Given the description of an element on the screen output the (x, y) to click on. 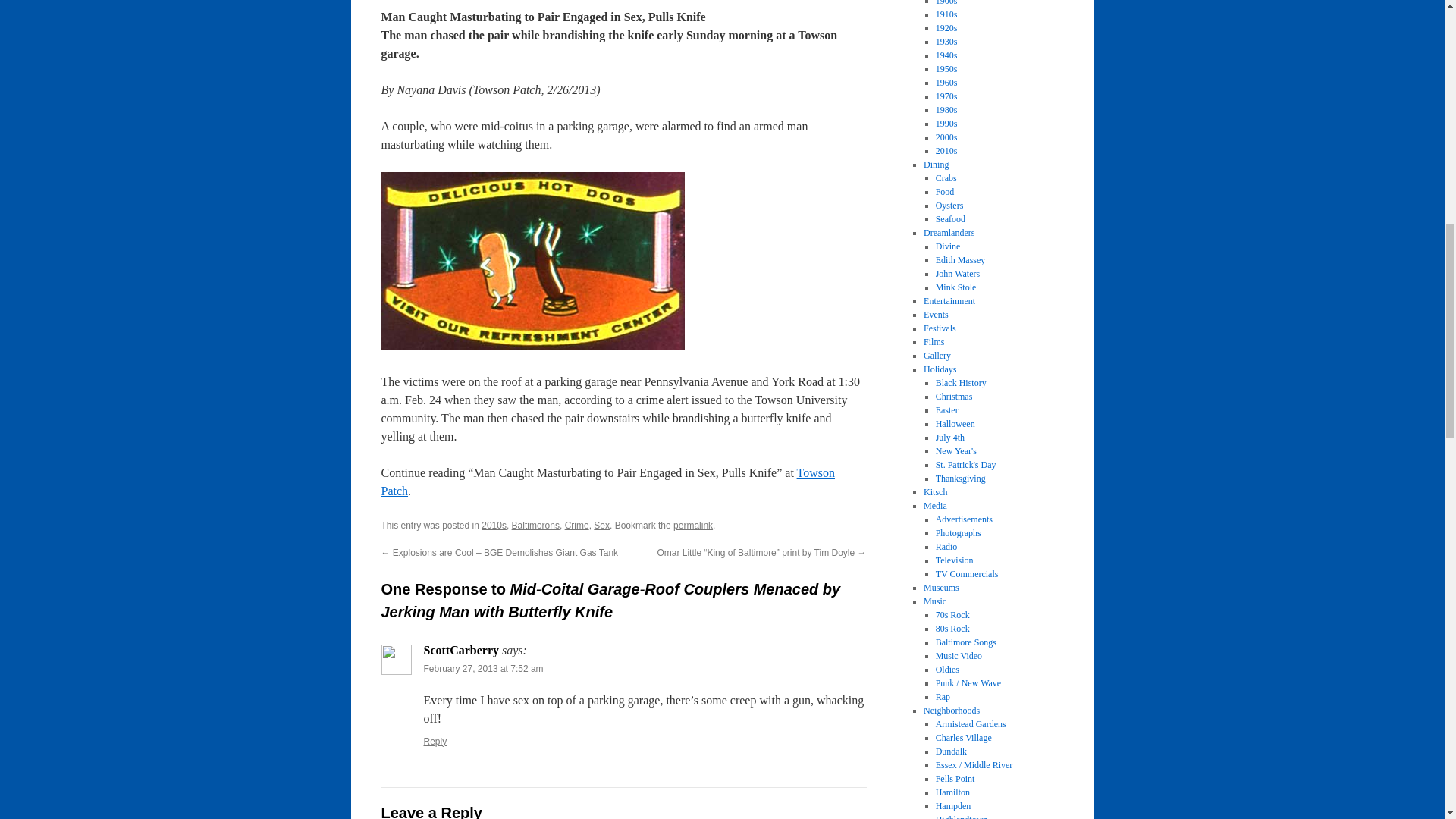
Sex (602, 525)
2010s (493, 525)
February 27, 2013 at 7:52 am (483, 668)
Crime (576, 525)
permalink (692, 525)
Towson Patch (607, 481)
Reply (434, 741)
Baltimorons (535, 525)
